Given the description of an element on the screen output the (x, y) to click on. 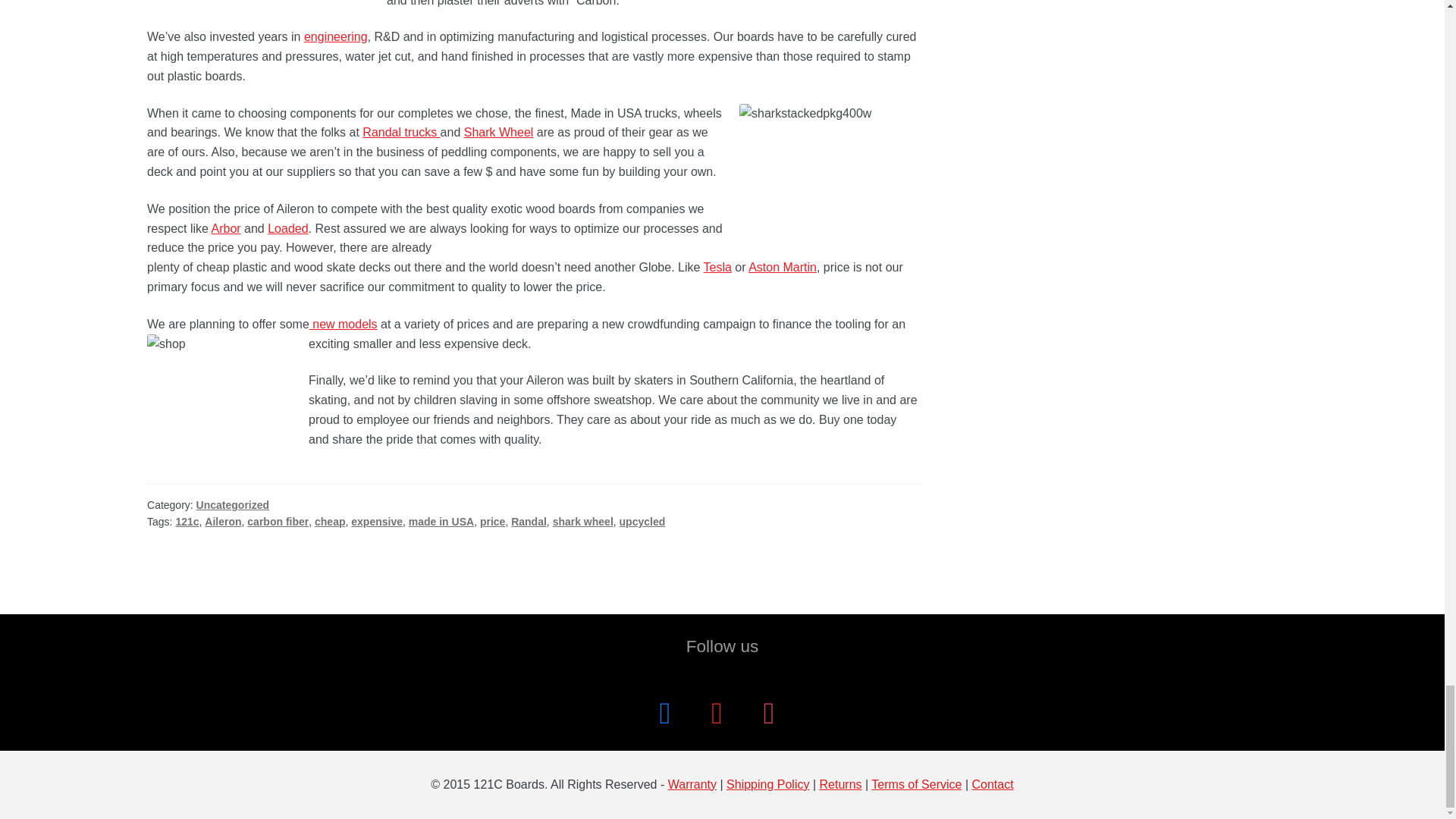
Facebook (664, 712)
Default Label (716, 712)
Instagram (769, 712)
